Given the description of an element on the screen output the (x, y) to click on. 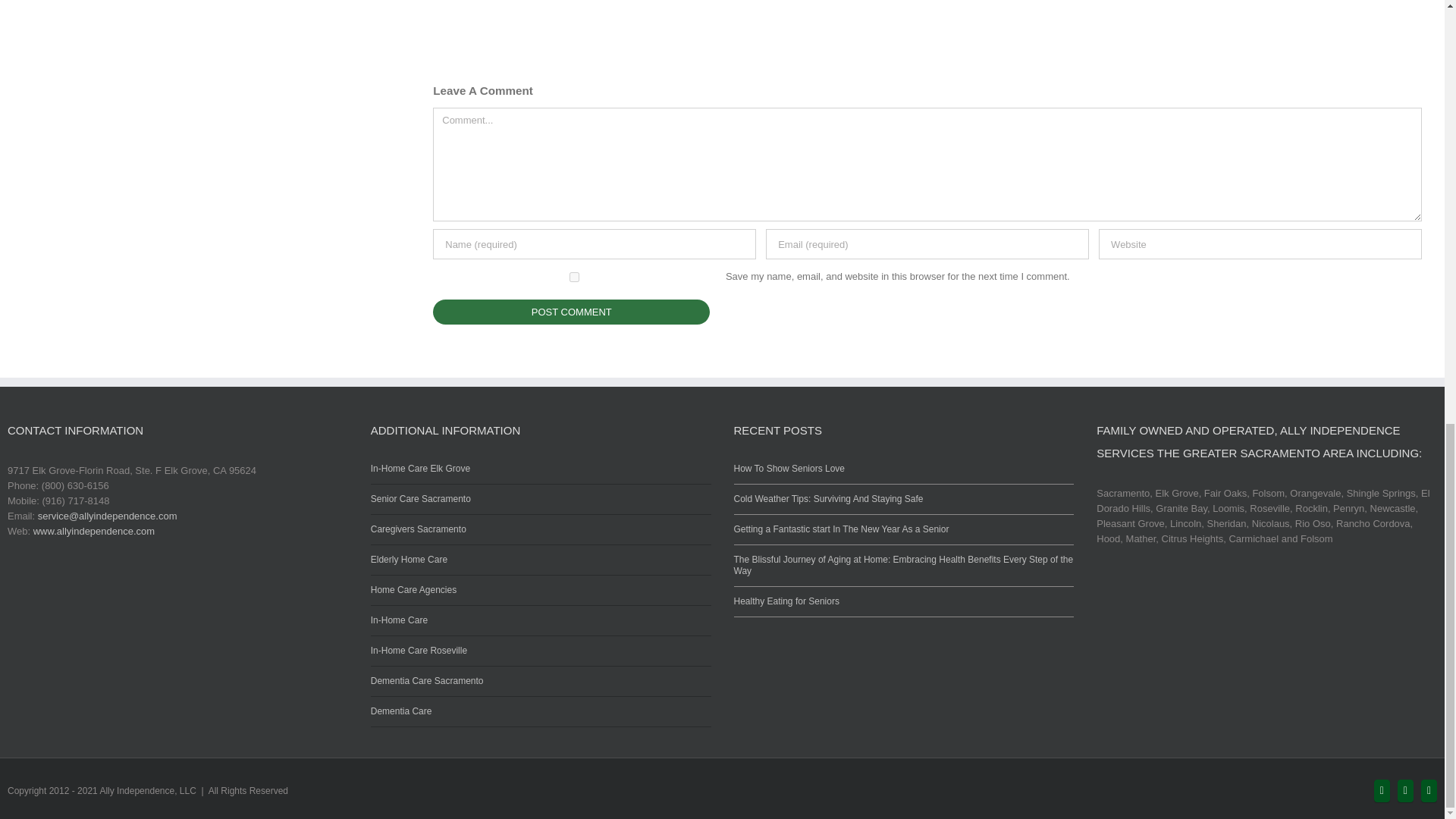
Post Comment (571, 311)
Post Comment (571, 311)
yes (574, 276)
